Given the description of an element on the screen output the (x, y) to click on. 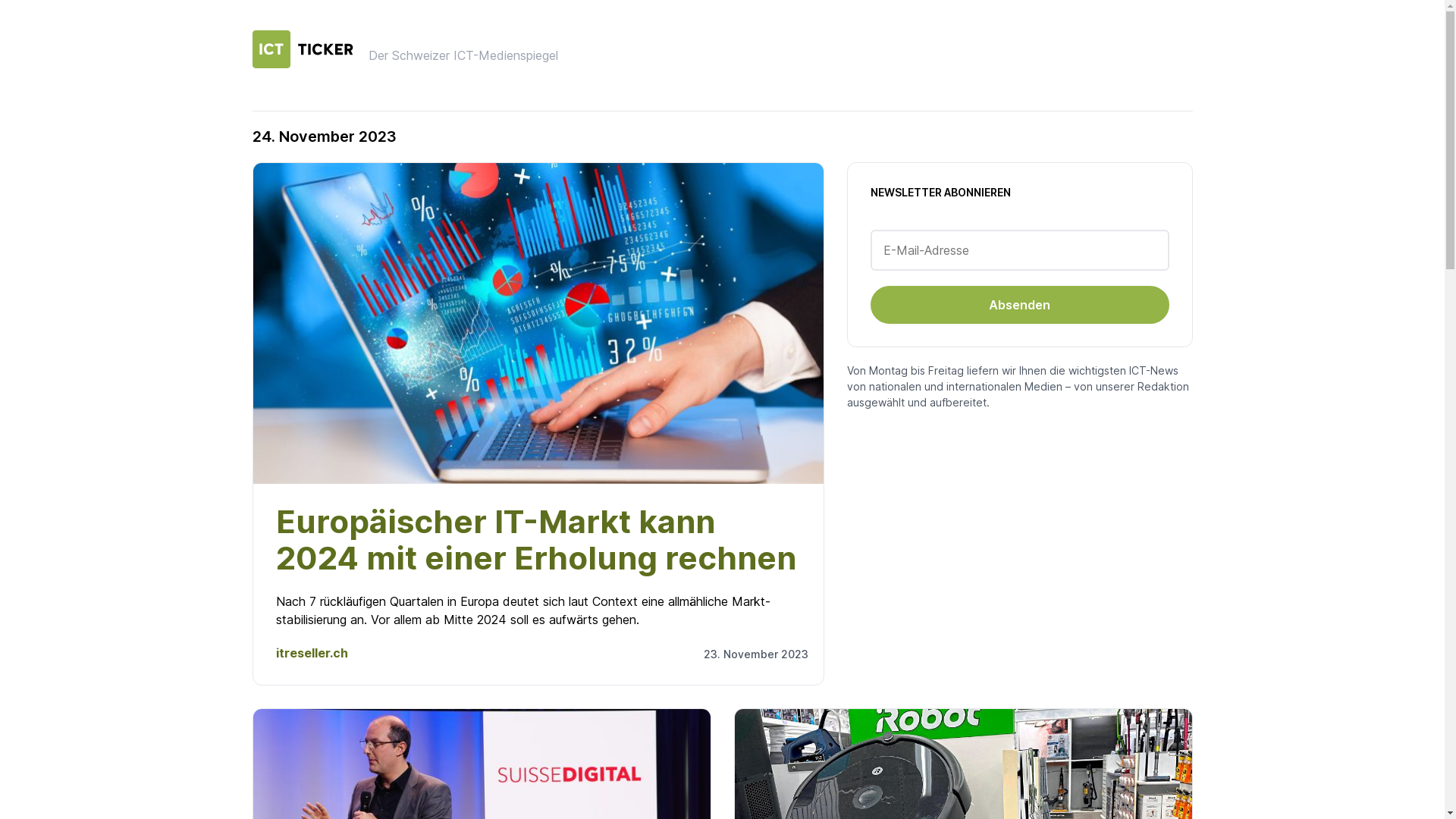
itreseller.ch Element type: text (312, 652)
Absenden Element type: text (1019, 304)
